Given the description of an element on the screen output the (x, y) to click on. 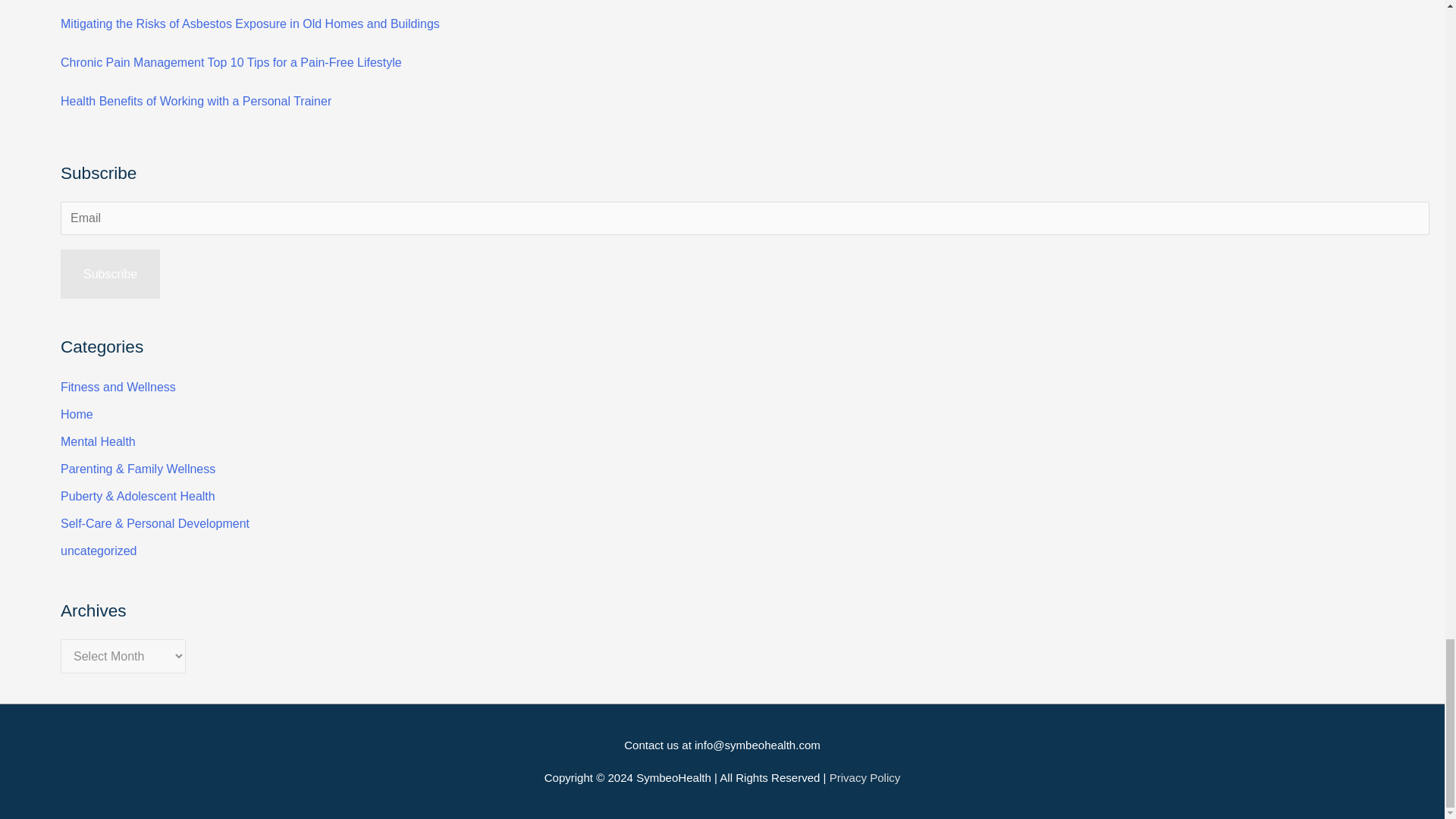
Subscribe (110, 274)
Subscribe (110, 274)
Fitness and Wellness (118, 386)
Mental Health (98, 440)
Home (77, 413)
Health Benefits of Working with a Personal Trainer (196, 101)
